Given the description of an element on the screen output the (x, y) to click on. 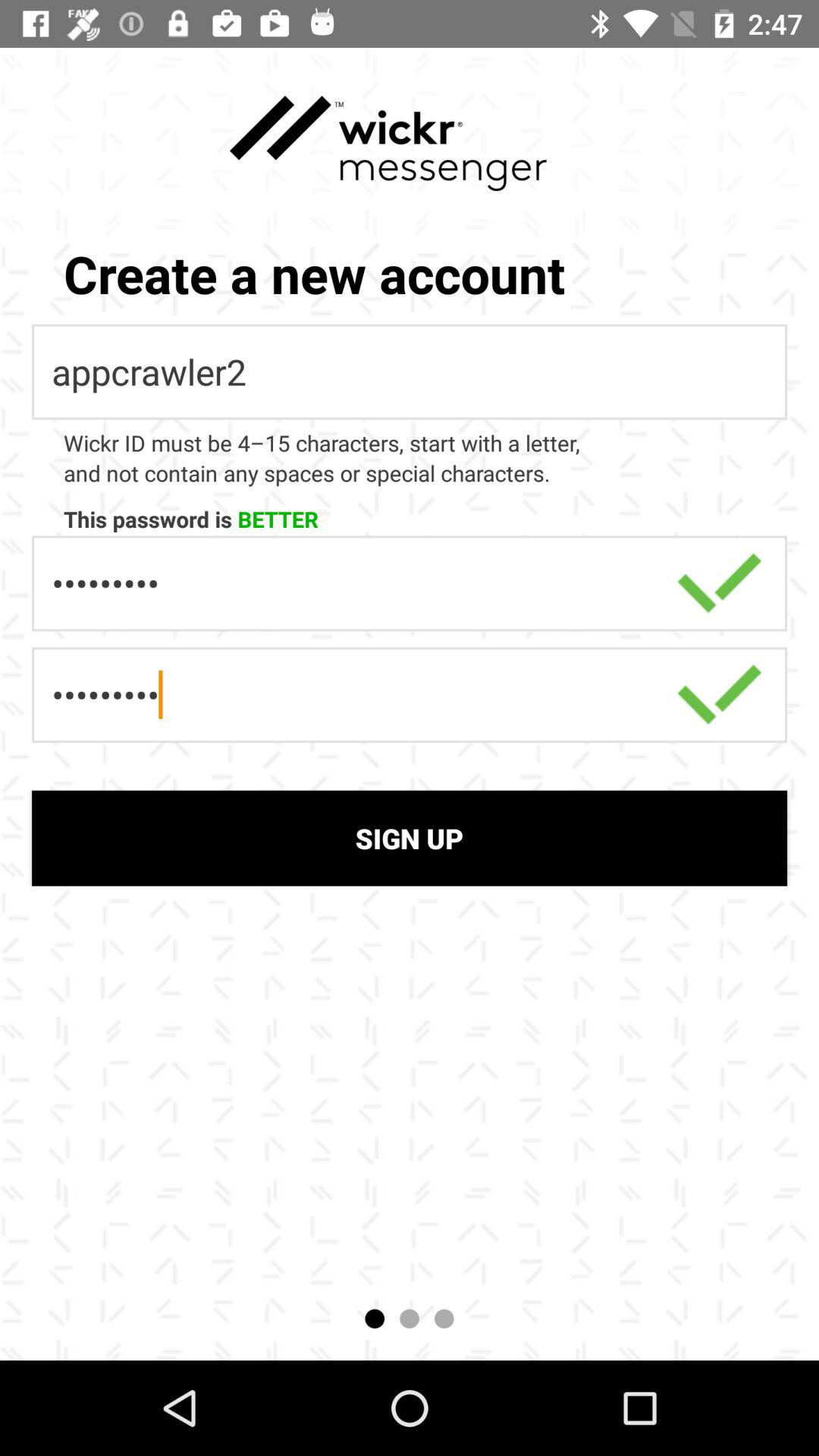
open icon below create a new icon (409, 371)
